Given the description of an element on the screen output the (x, y) to click on. 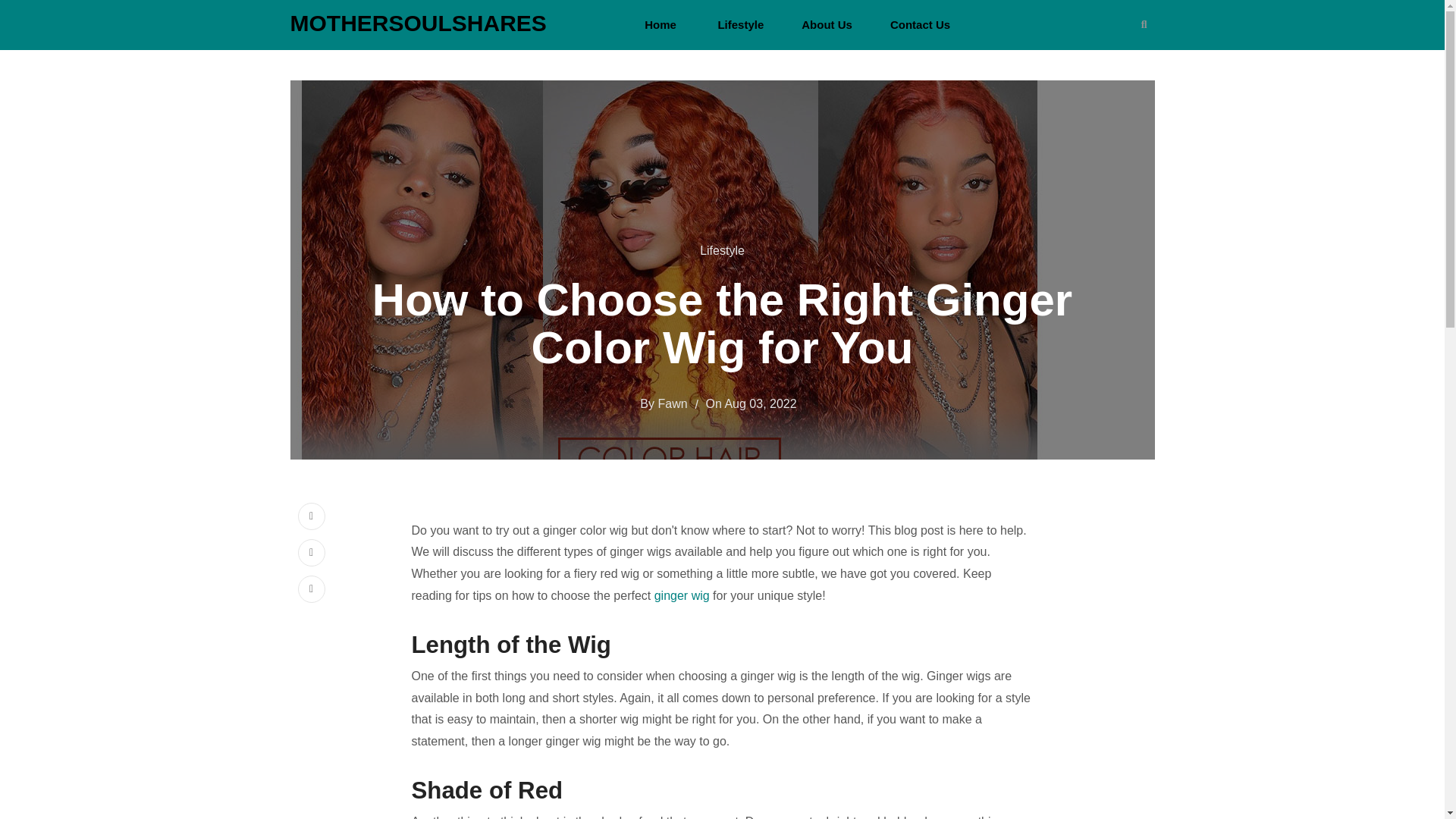
Lifestyle (722, 250)
Fawn (672, 403)
Contact Us (919, 24)
Home (660, 24)
About Us (826, 24)
MOTHERSOULSHARES (417, 23)
Lifestyle (740, 24)
Home (660, 24)
ginger wig (681, 594)
